Given the description of an element on the screen output the (x, y) to click on. 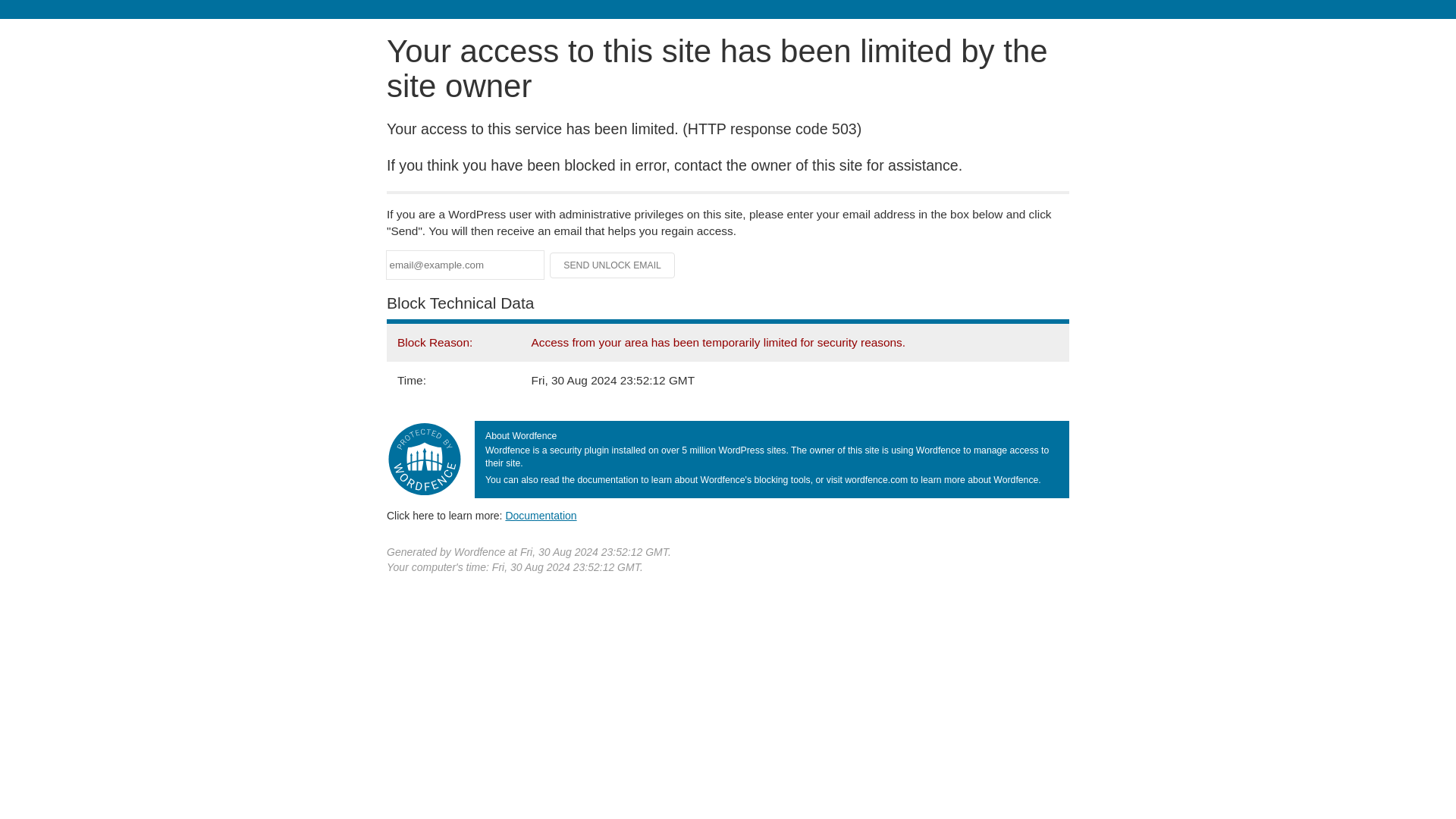
Documentation (540, 515)
Send Unlock Email (612, 265)
Send Unlock Email (612, 265)
